Given the description of an element on the screen output the (x, y) to click on. 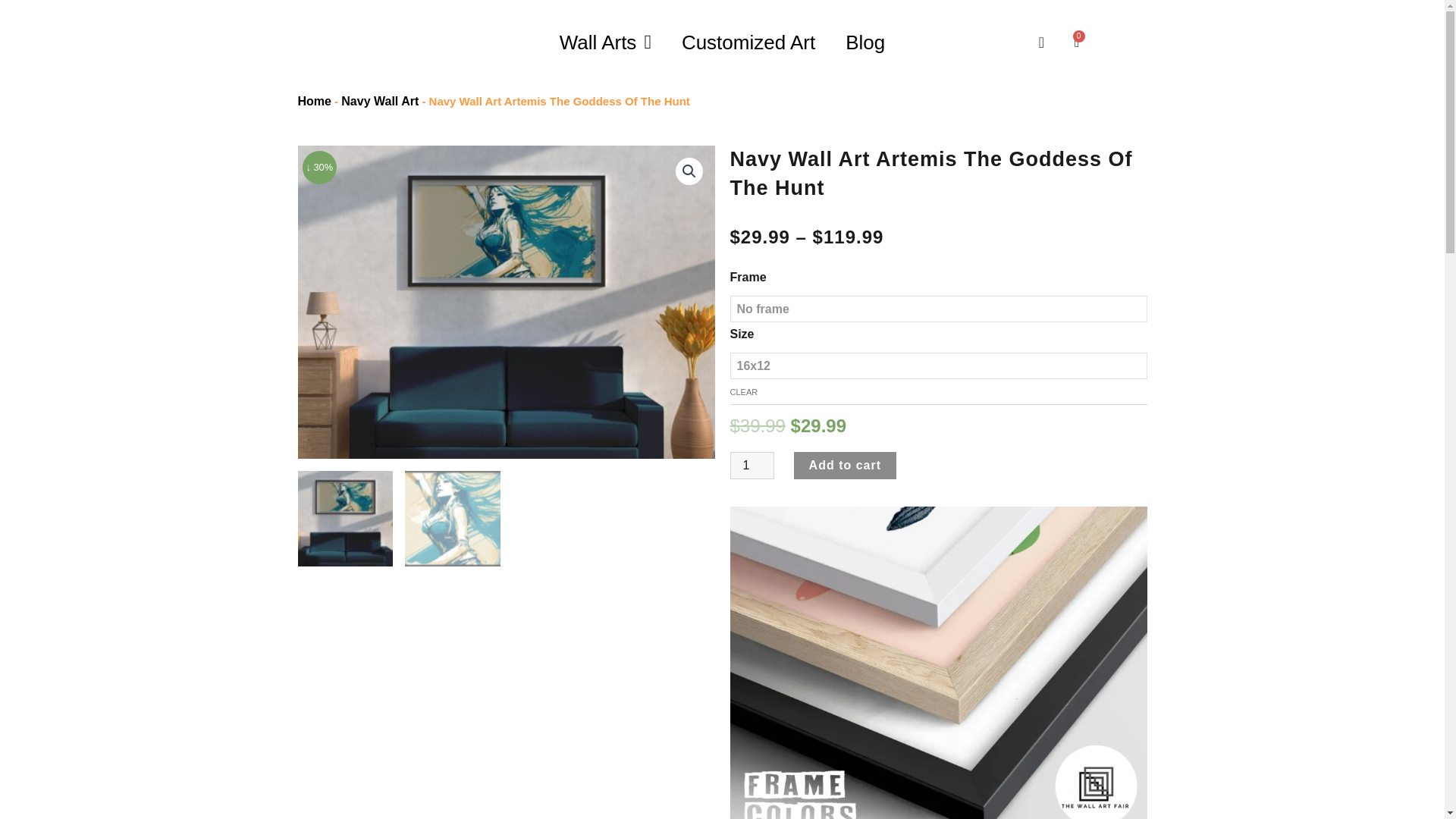
Wall Arts (605, 42)
Blog (864, 42)
Customized Art (747, 42)
1 (1076, 42)
